Given the description of an element on the screen output the (x, y) to click on. 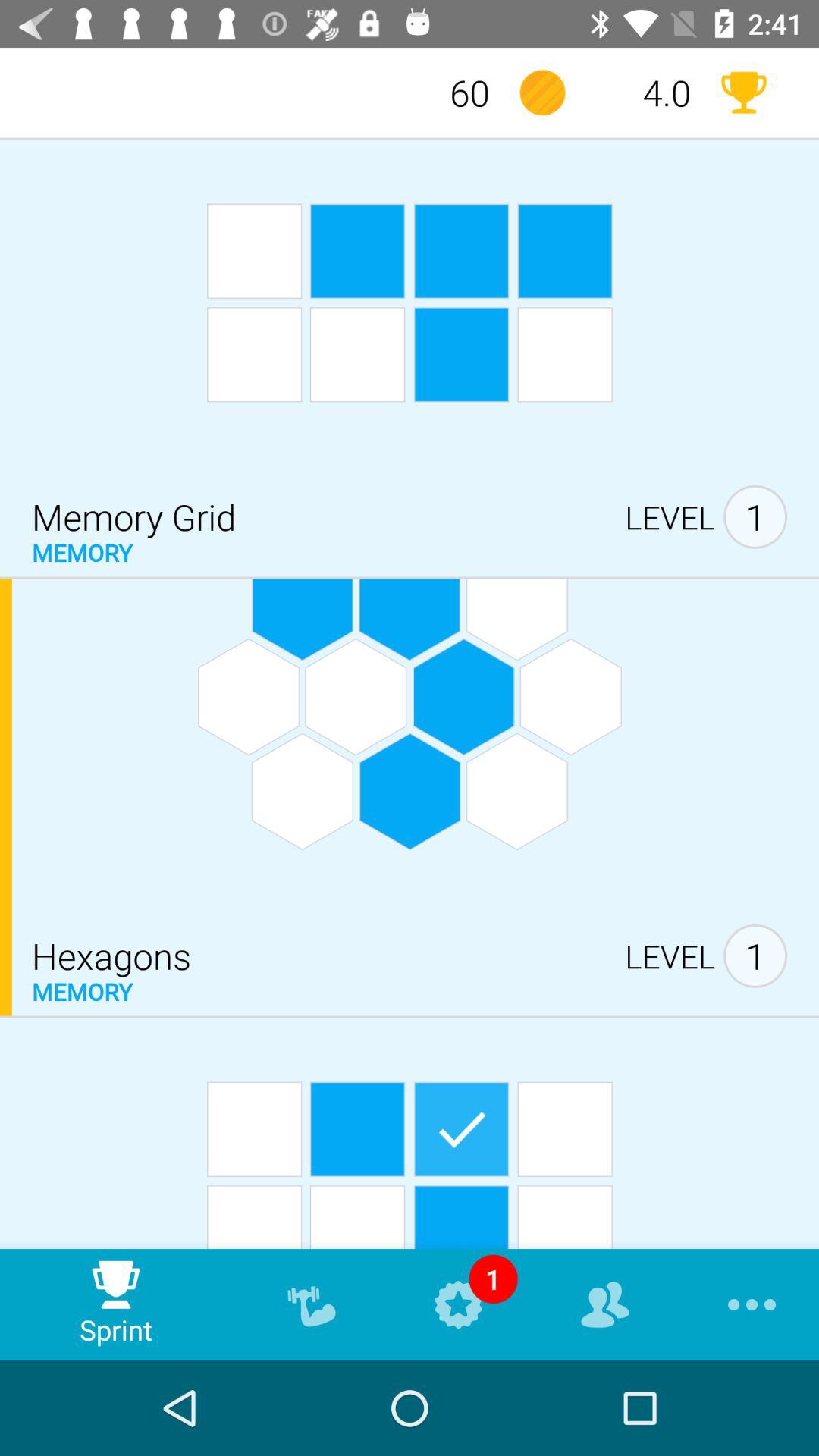
turn on the 4.0 item (642, 92)
